Given the description of an element on the screen output the (x, y) to click on. 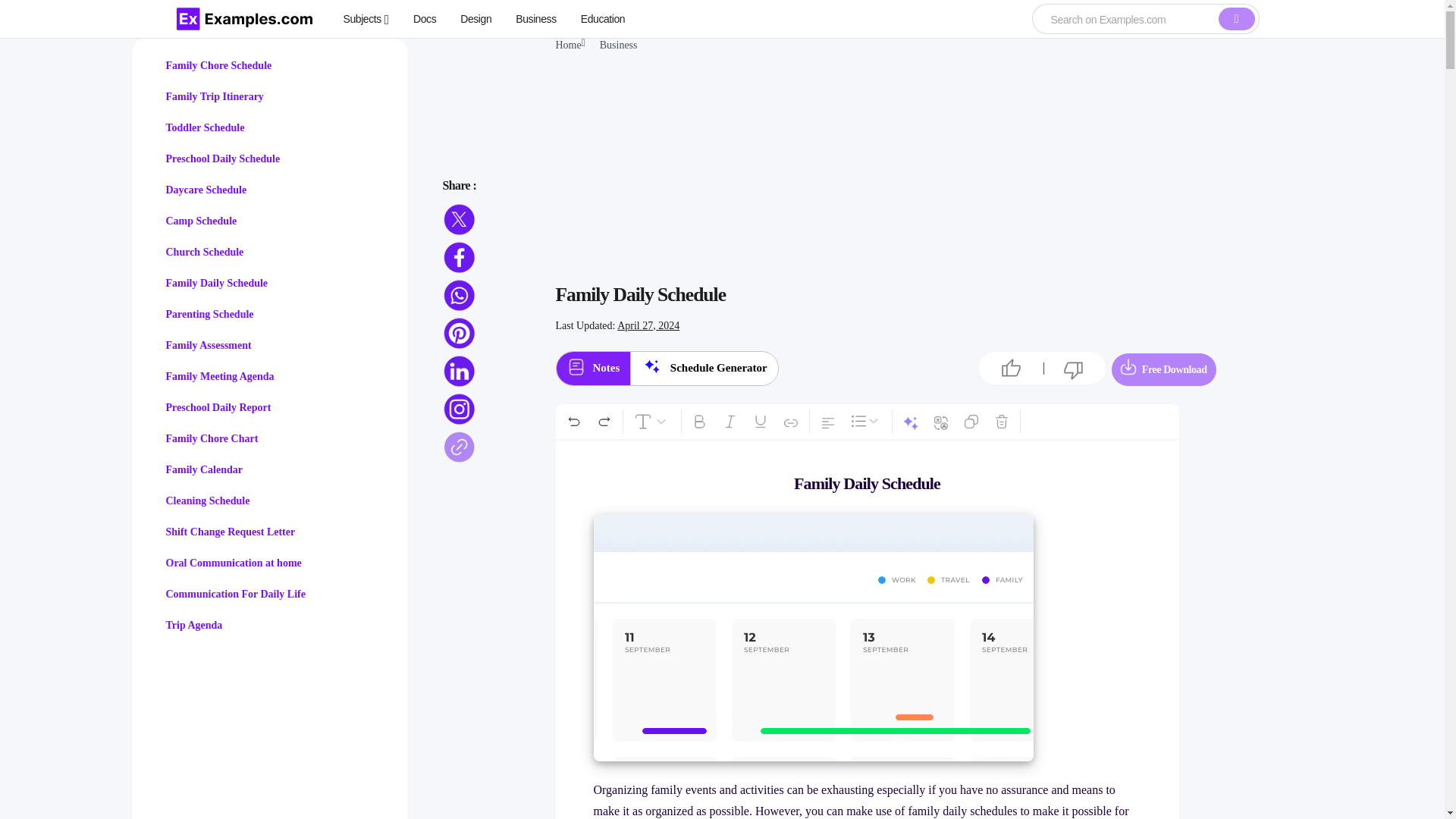
Parenting Schedule (209, 314)
Preschool Daily Schedule (222, 158)
Subjects (365, 18)
Family Meeting Agenda (219, 376)
Family Chore Chart (211, 438)
dislike (1073, 369)
like (1011, 368)
Design (476, 18)
Church Schedule (204, 251)
